Given the description of an element on the screen output the (x, y) to click on. 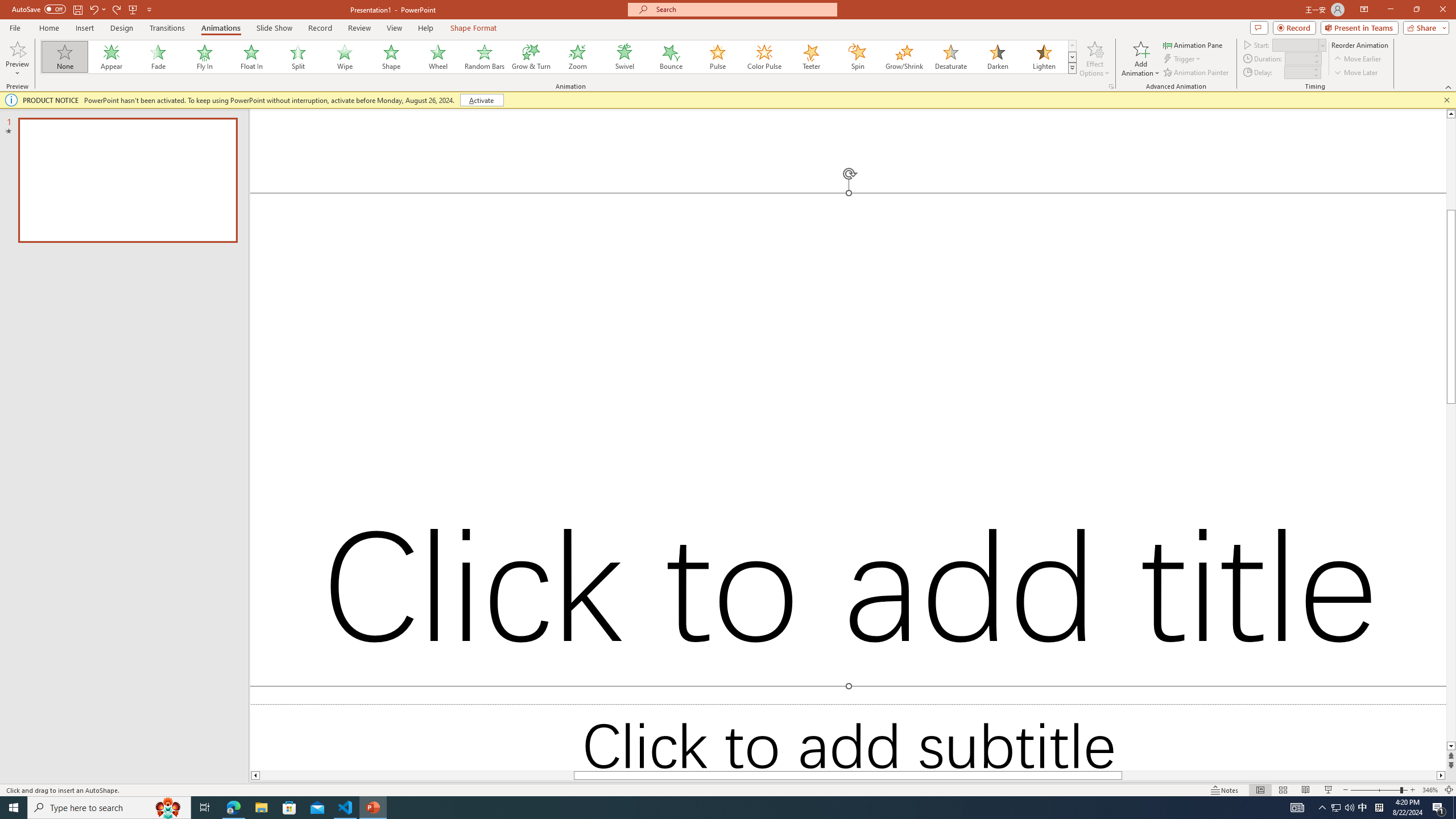
Pulse (717, 56)
Grow/Shrink (903, 56)
Animation Painter (1196, 72)
Animation Delay (1297, 72)
